Given the description of an element on the screen output the (x, y) to click on. 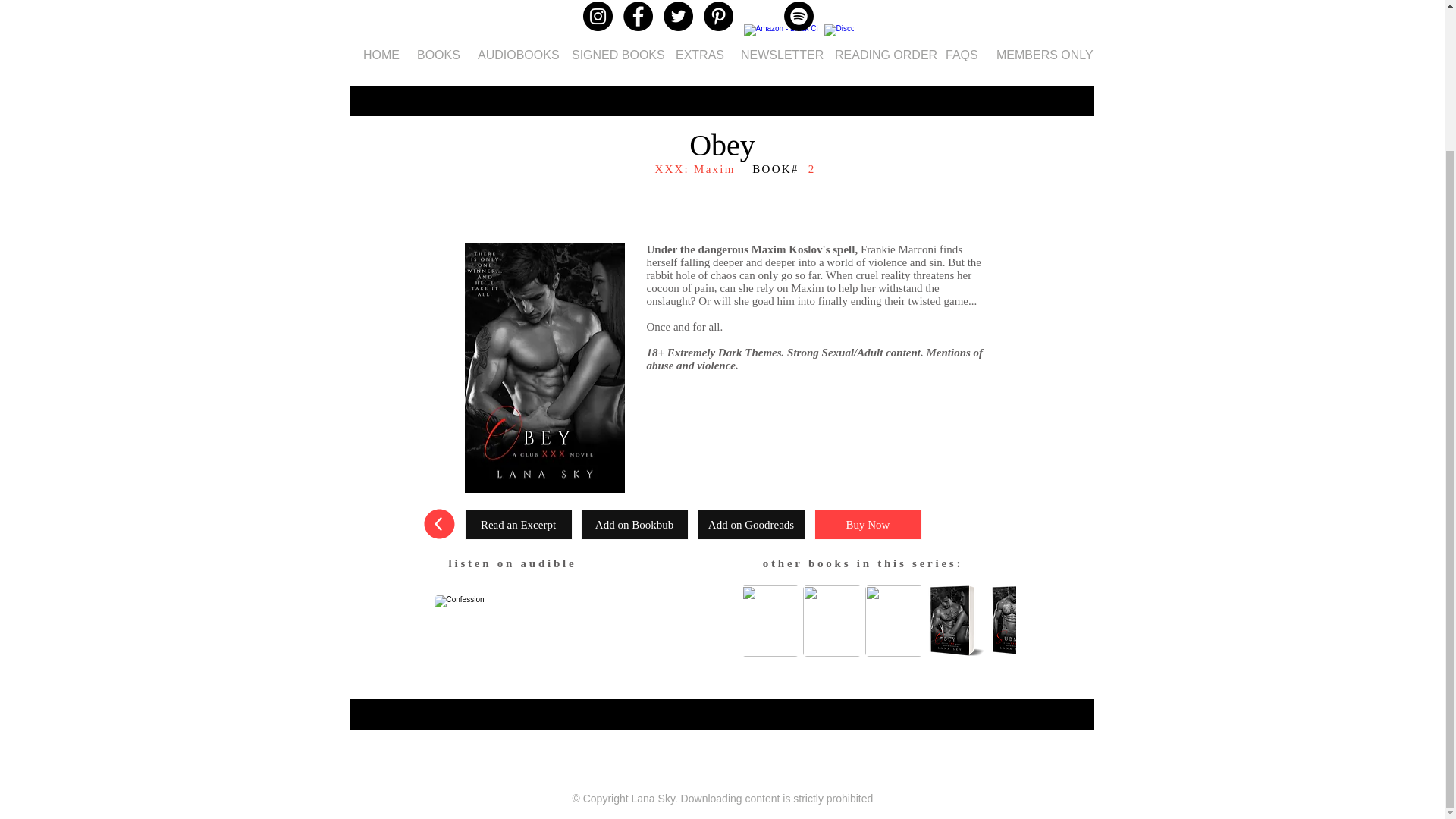
HOME (379, 55)
FAQS (959, 55)
Add on Bookbub (634, 524)
Buy Now (867, 524)
SIGNED BOOKS (611, 55)
BOOKS (435, 55)
Add on Goodreads (751, 524)
EXTRAS (696, 55)
MEMBERS ONLY (1037, 55)
AUDIOBOOKS (512, 55)
NEWSLETTER (776, 55)
READING ORDER (879, 55)
Read an Excerpt (518, 524)
